Given the description of an element on the screen output the (x, y) to click on. 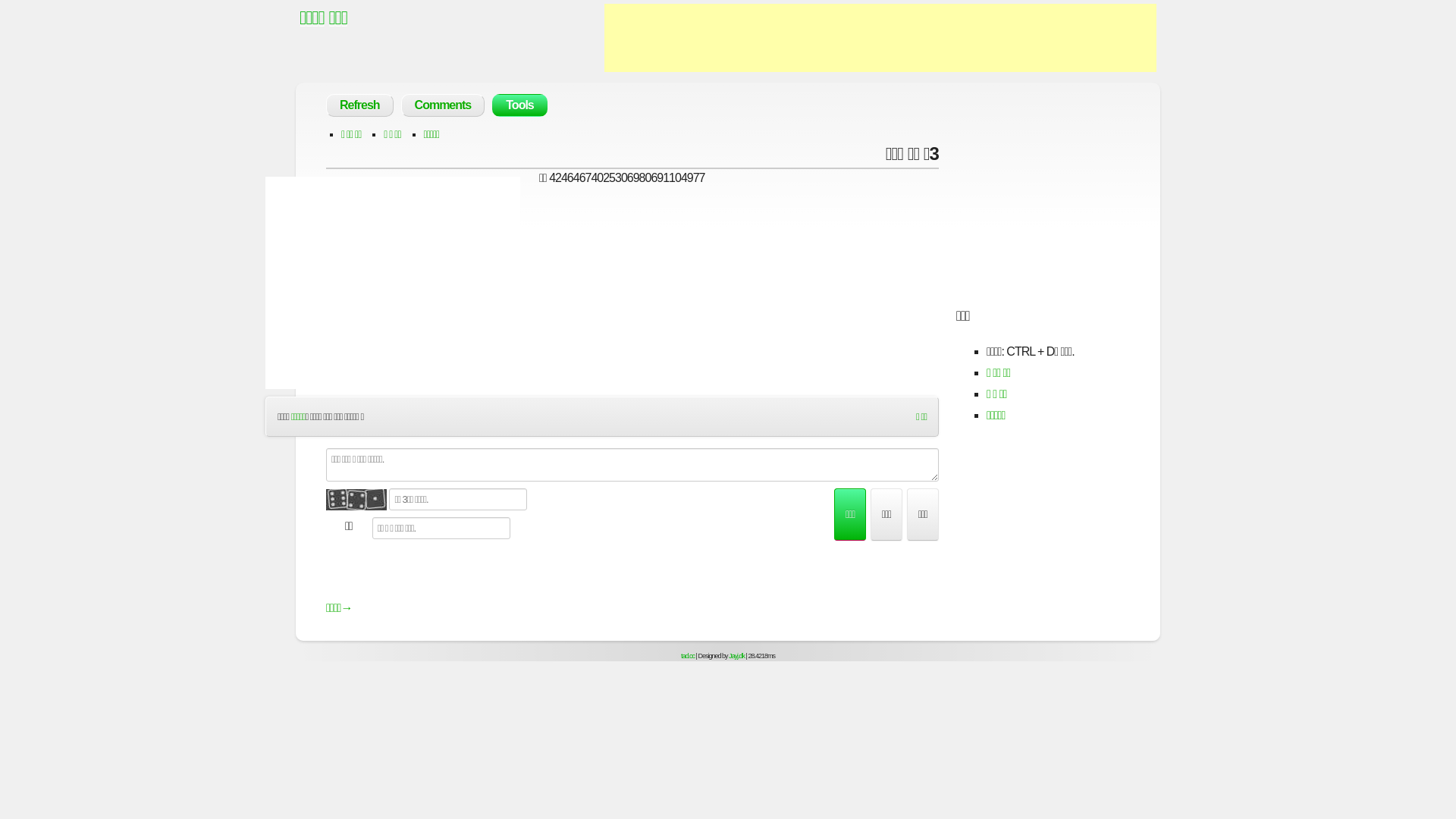
Advertisement Element type: hover (392, 281)
tad.cc Element type: text (687, 655)
Comments Element type: text (443, 105)
Refresh Element type: text (359, 105)
Advertisement Element type: hover (880, 37)
Tools Element type: text (519, 105)
Jayj.dk Element type: text (736, 655)
